Given the description of an element on the screen output the (x, y) to click on. 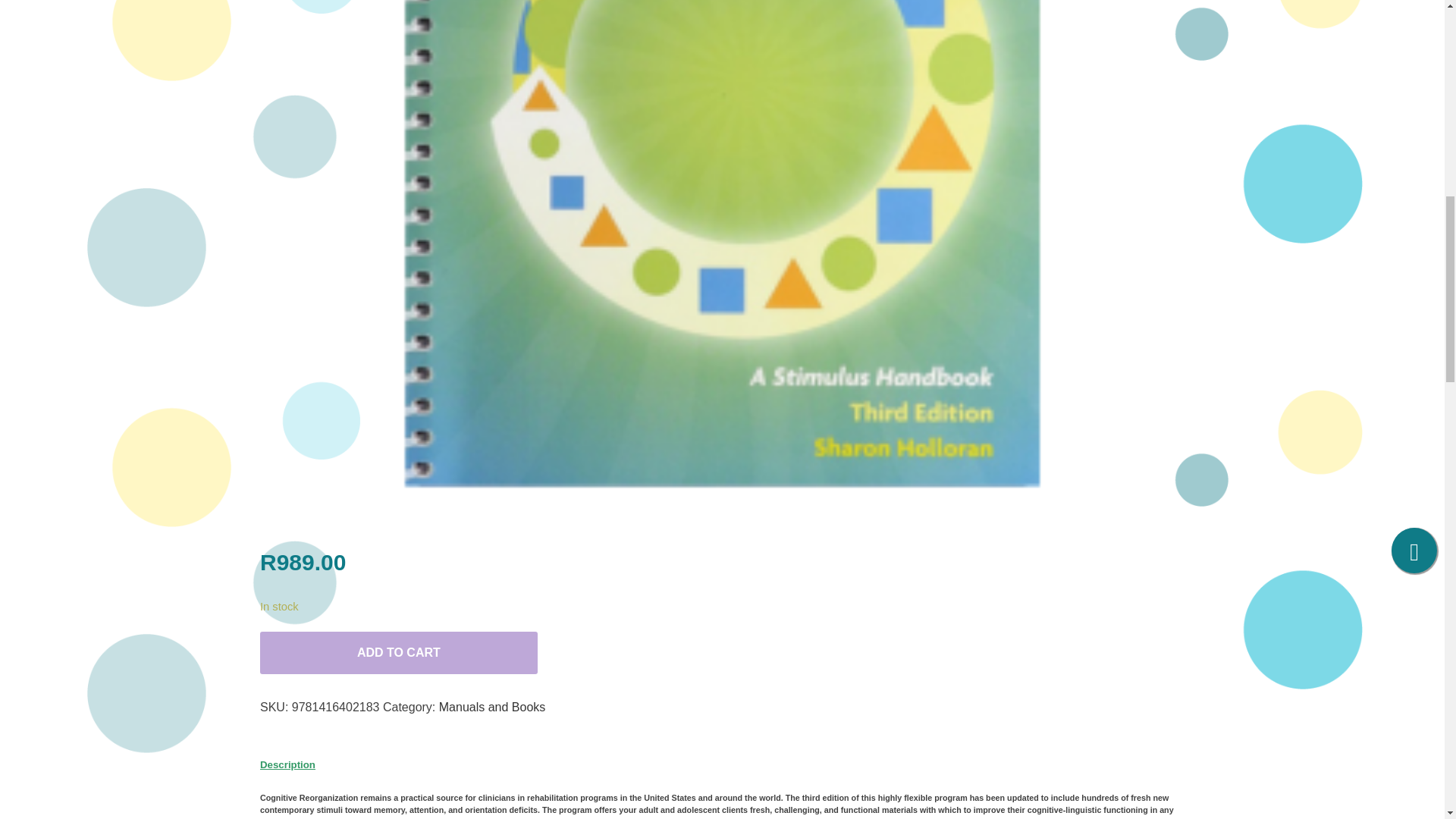
Manuals and Books (492, 707)
ADD TO CART (398, 664)
